Given the description of an element on the screen output the (x, y) to click on. 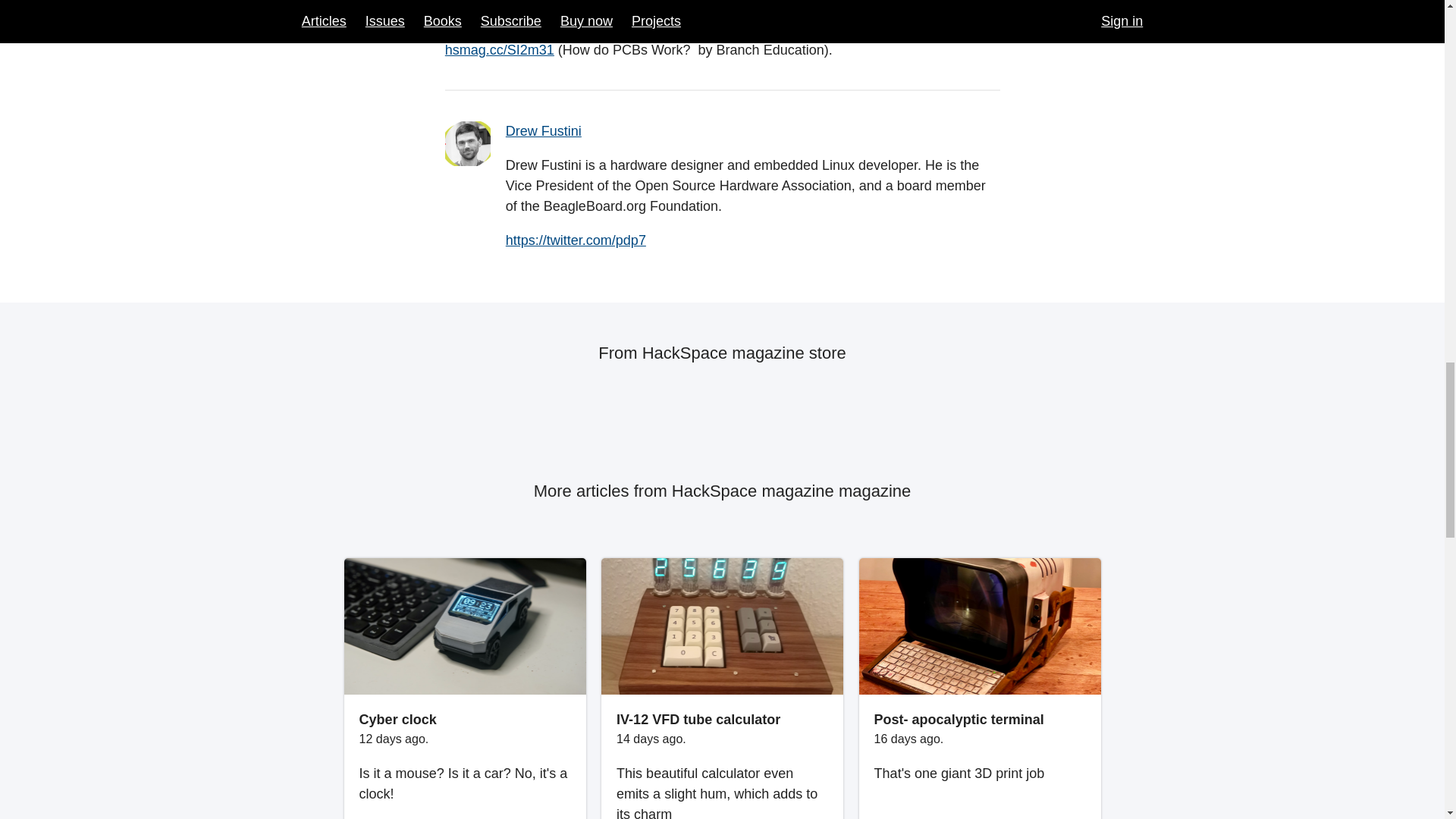
Drew Fustini (542, 130)
